Given the description of an element on the screen output the (x, y) to click on. 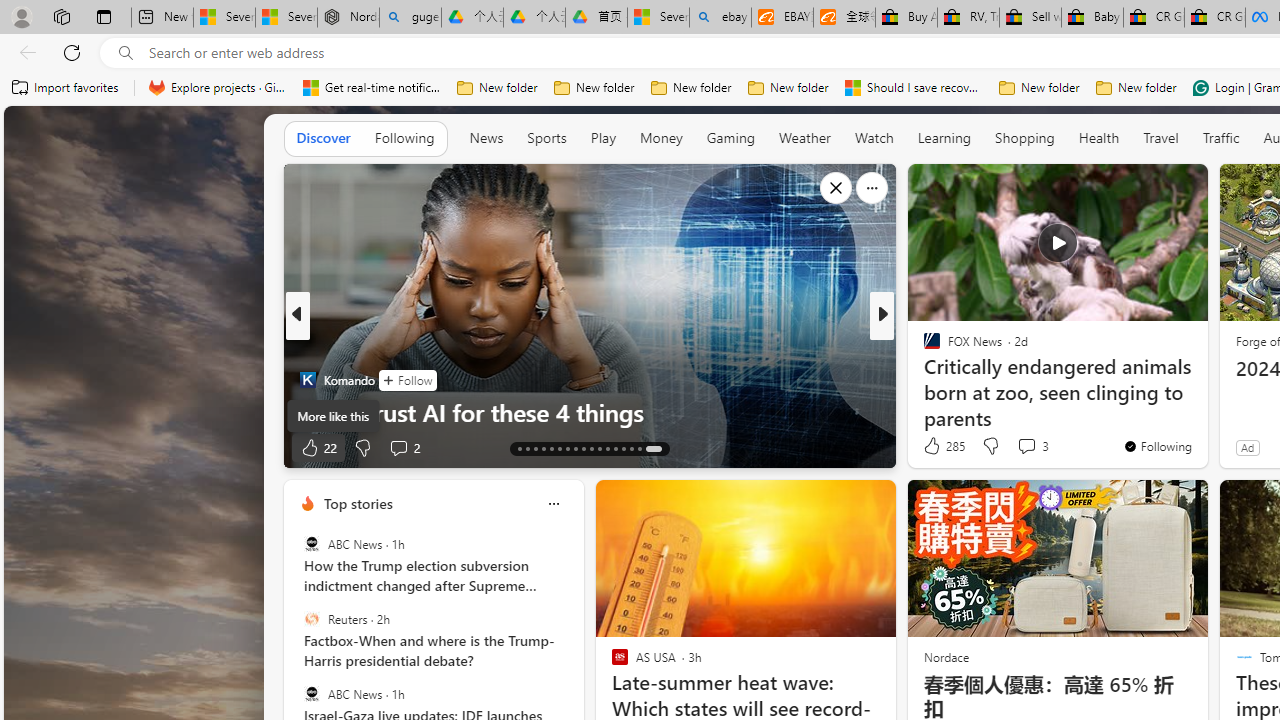
Ad Choice (264, 448)
See more (1183, 187)
AutomationID: tab-14 (527, 448)
Play (602, 137)
Sports (546, 138)
Money (661, 138)
ebay - Search (720, 17)
Ad (1247, 447)
More options (553, 503)
